Given the description of an element on the screen output the (x, y) to click on. 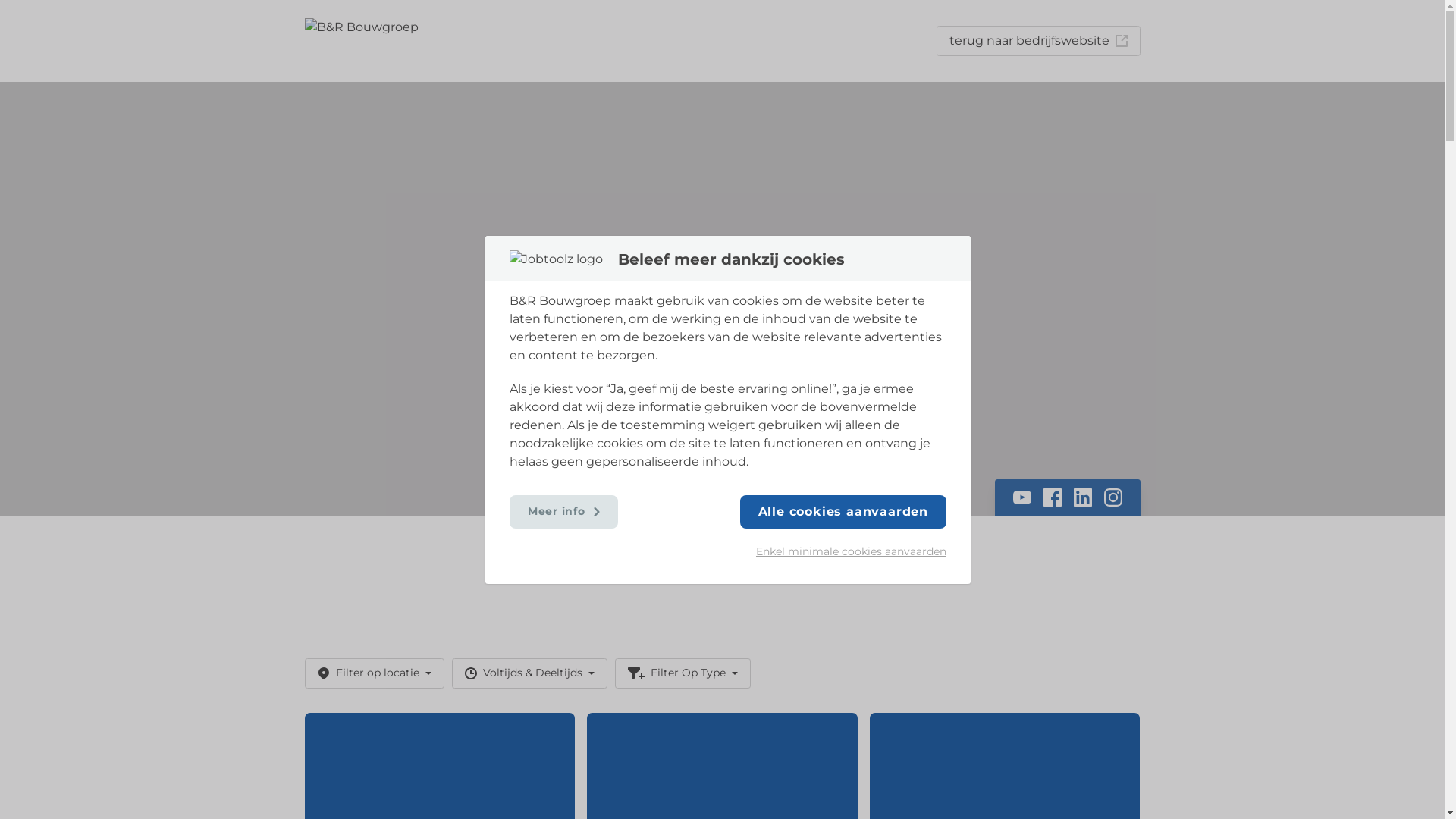
facebook Element type: hover (1052, 497)
Filter Op Type Element type: text (681, 673)
linkedin Element type: hover (1082, 497)
instagram Element type: hover (1113, 497)
Alle cookies aanvaarden Element type: text (843, 510)
Voltijds & Deeltijds Element type: text (529, 673)
Enkel minimale cookies aanvaarden Element type: text (843, 550)
youtube Element type: hover (1022, 496)
Meer info Element type: text (563, 510)
Filter op locatie Element type: text (374, 673)
terug naar bedrijfswebsite Element type: text (1037, 40)
